Given the description of an element on the screen output the (x, y) to click on. 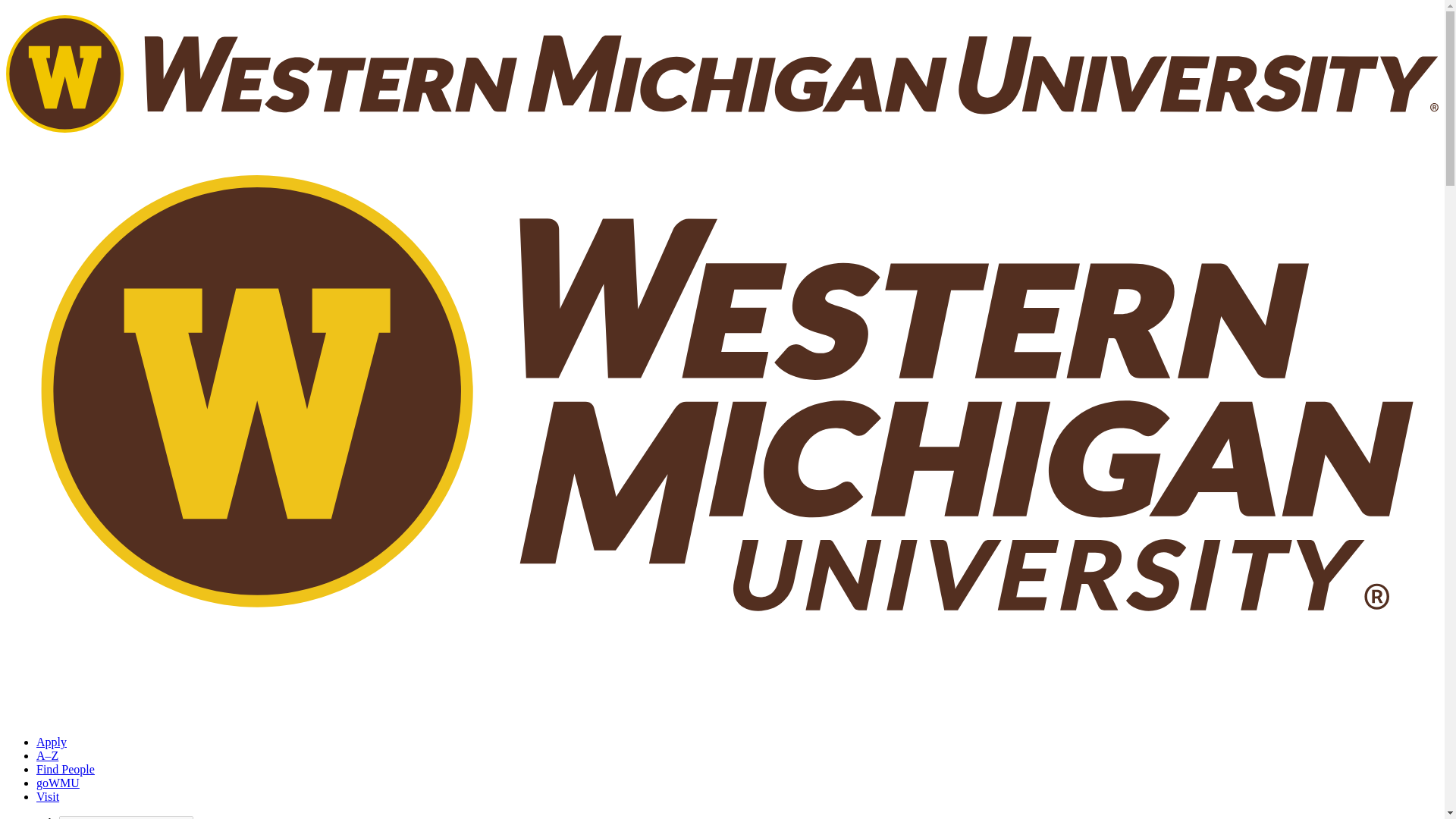
Apply (51, 741)
Find People (65, 768)
Visit (47, 796)
goWMU (58, 782)
